Given the description of an element on the screen output the (x, y) to click on. 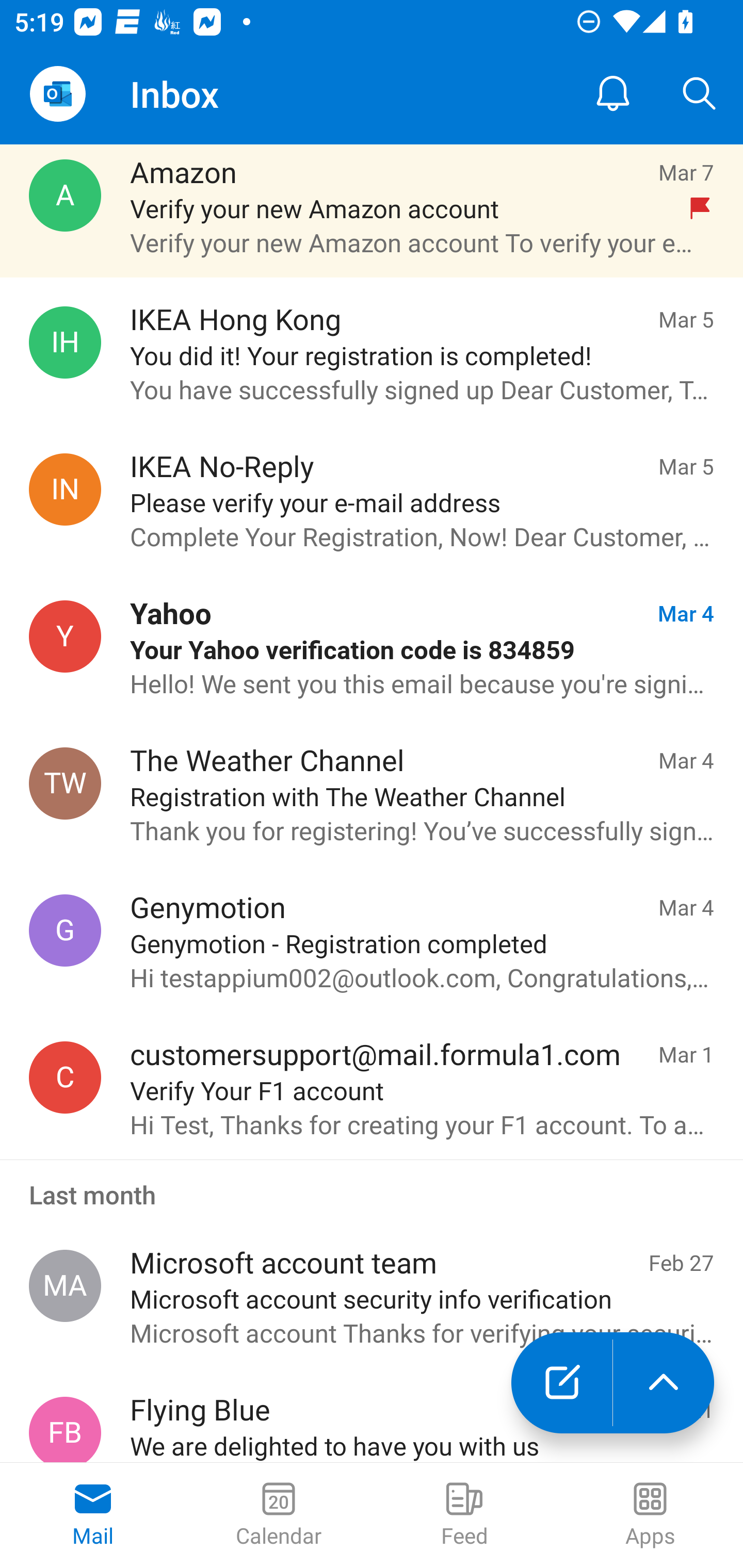
Notification Center (612, 93)
Search, ,  (699, 93)
Open Navigation Drawer (57, 94)
Amazon, account-update@amazon.com (64, 195)
IKEA Hong Kong, IKHK_AWS@ikea.com.hk (64, 341)
IKEA No-Reply, noreply@ikea.com.hk (64, 489)
Yahoo, no-reply@cc.yahoo-inc.com (64, 636)
The Weather Channel, noreply@weather.com (64, 783)
Genymotion, genymotion-activation@genymobile.com (64, 929)
New mail (561, 1382)
launch the extended action menu (663, 1382)
Flying Blue, do_not_reply@info-flyingblue.com (64, 1429)
Calendar (278, 1515)
Feed (464, 1515)
Apps (650, 1515)
